Given the description of an element on the screen output the (x, y) to click on. 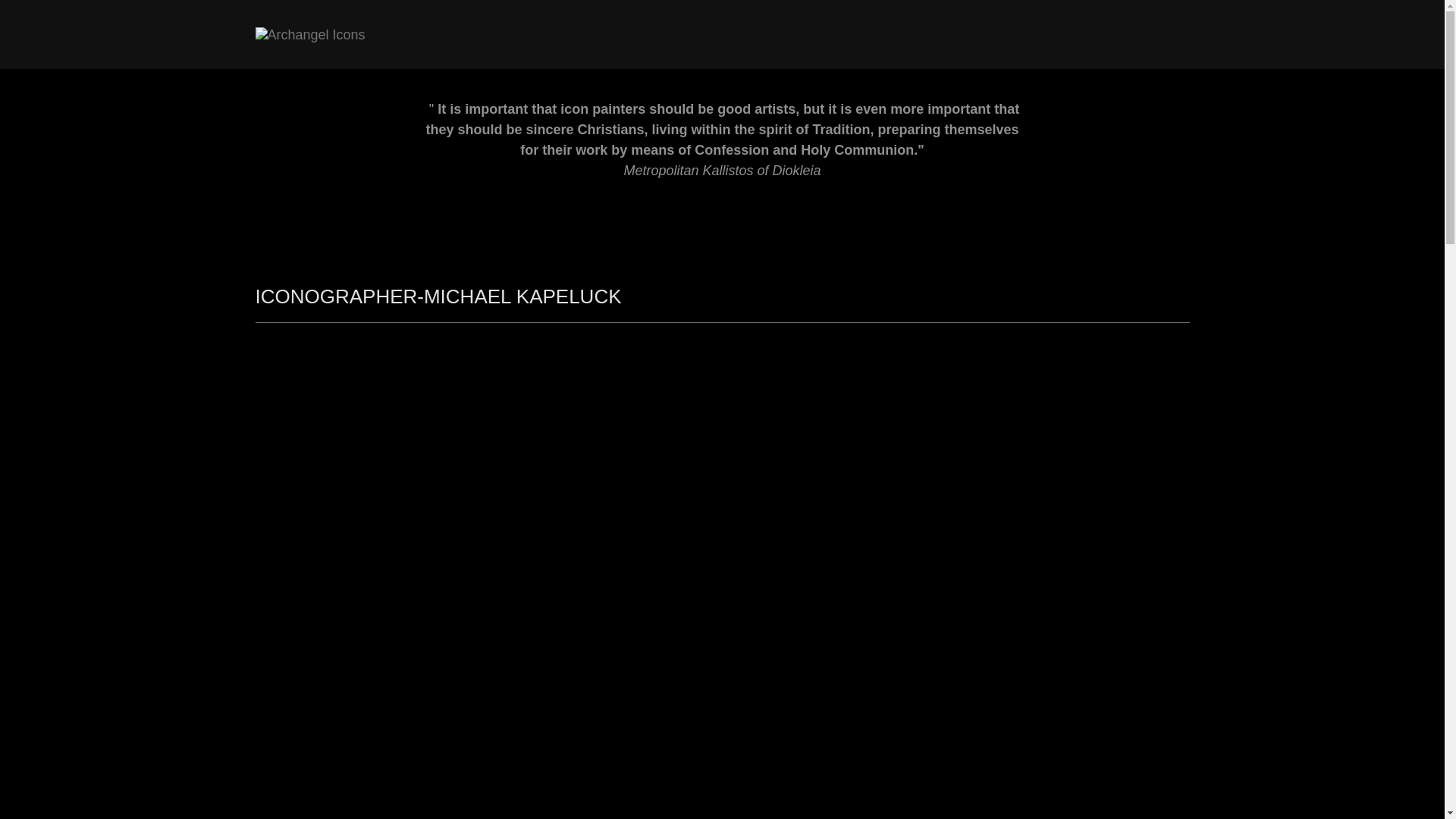
Archangel Icons (309, 33)
